Given the description of an element on the screen output the (x, y) to click on. 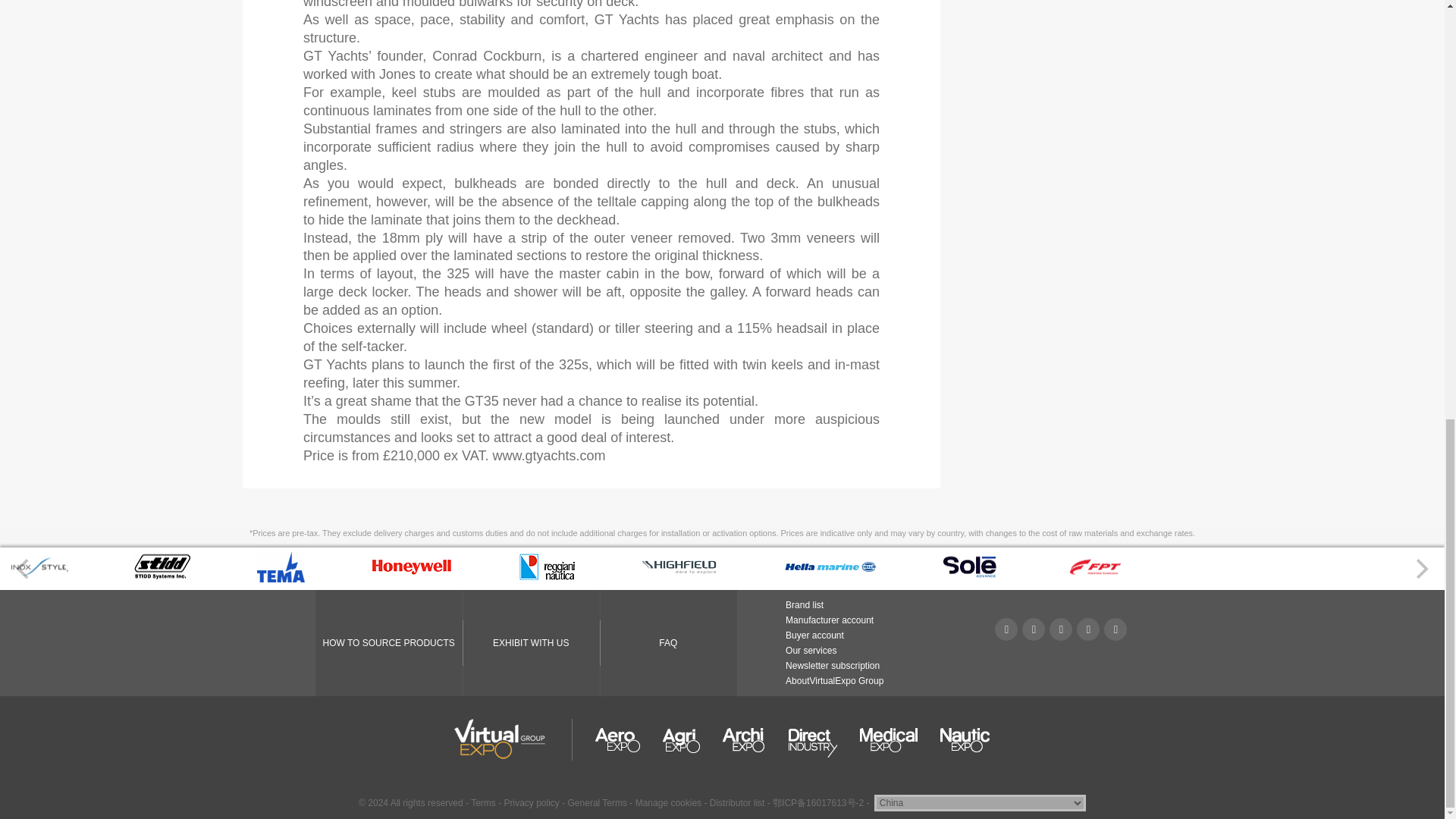
Inoxstyle (40, 575)
